Given the description of an element on the screen output the (x, y) to click on. 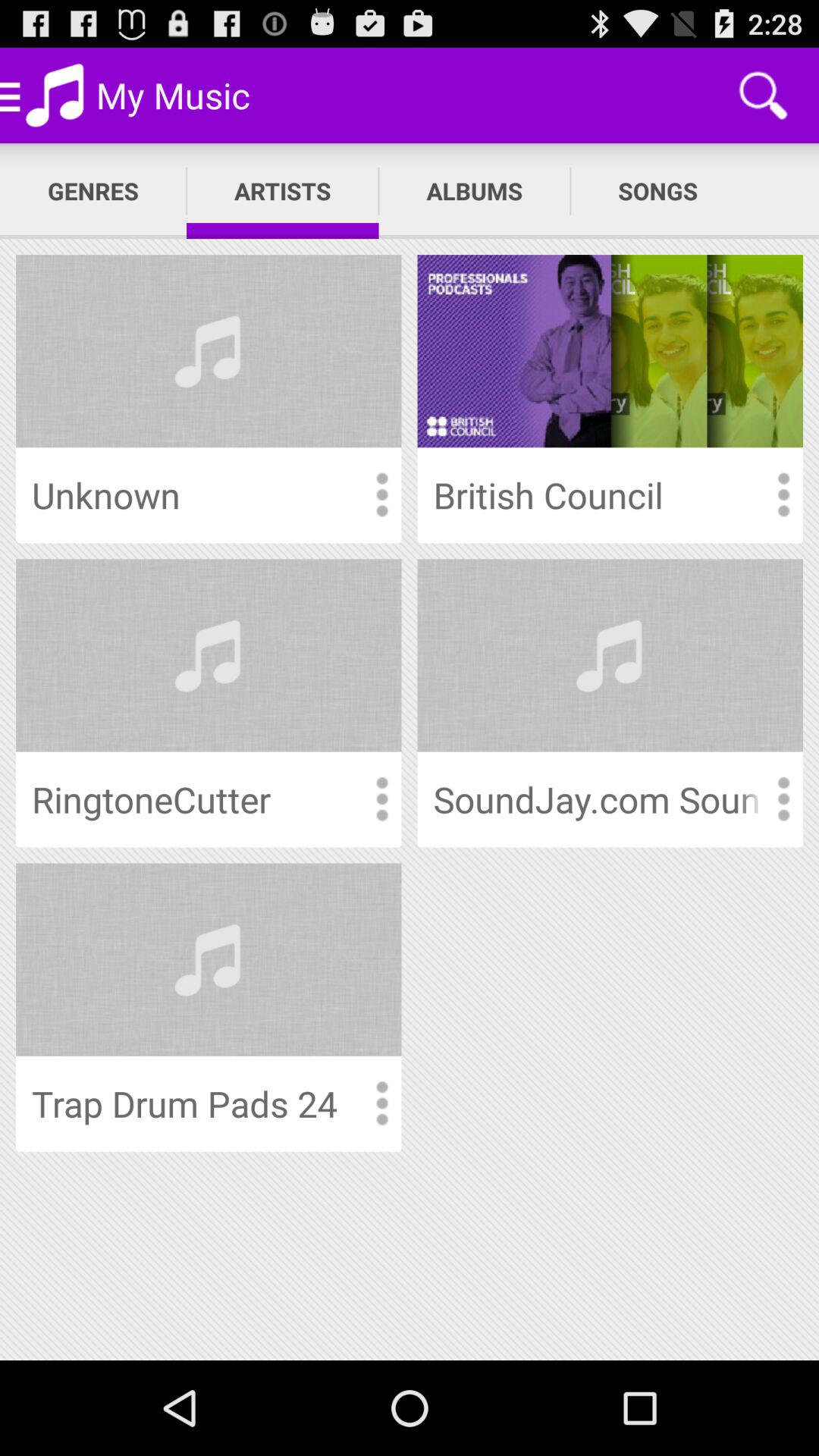
more information (381, 799)
